Given the description of an element on the screen output the (x, y) to click on. 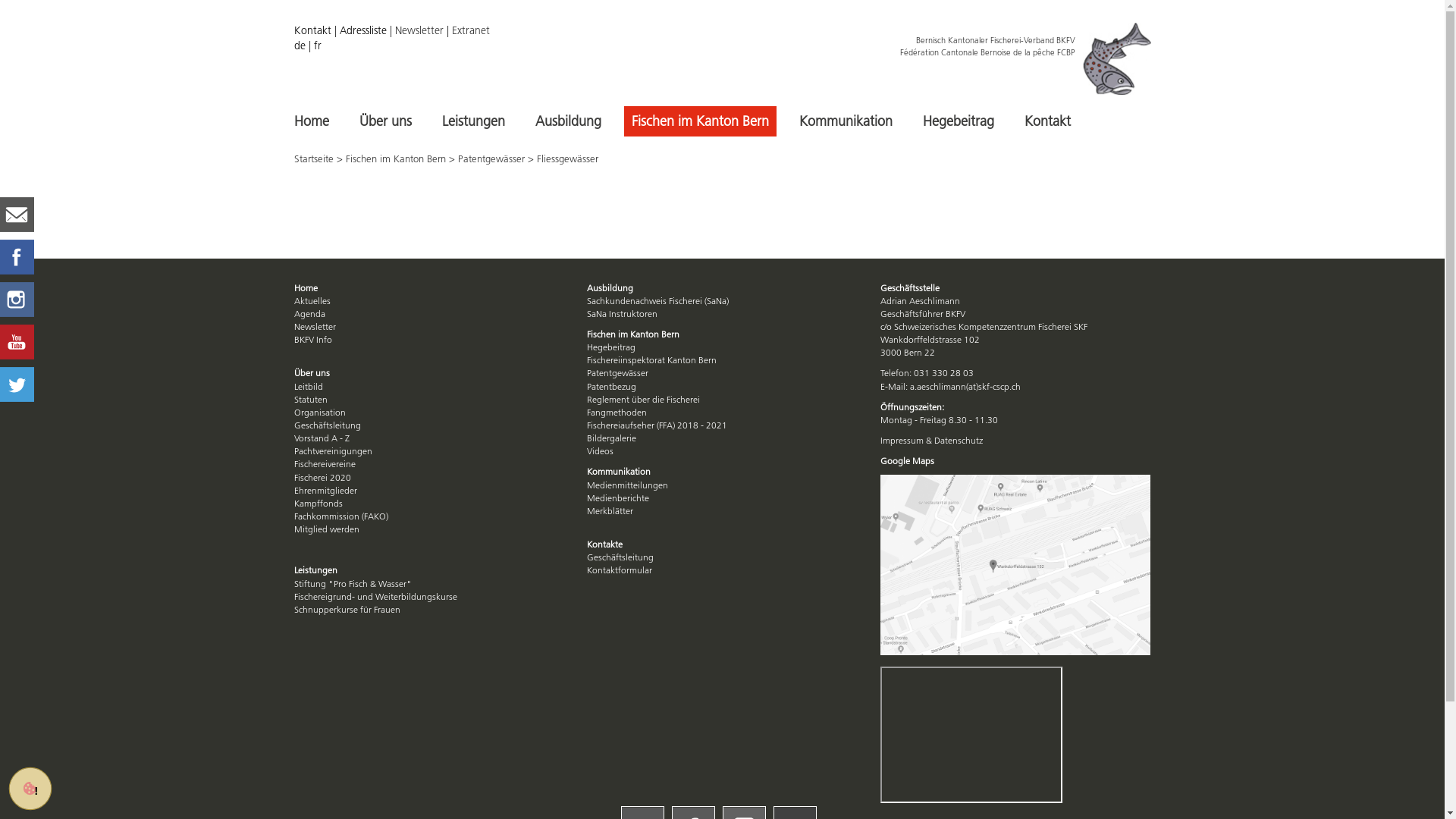
Leistungen Element type: text (472, 121)
Kontakt Element type: text (312, 30)
Adressliste Element type: text (362, 30)
Fischen im Kanton Bern Element type: text (395, 158)
Fischen im Kanton Bern Element type: text (699, 121)
Ausbildung Element type: text (567, 121)
Hegebeitrag Element type: text (957, 121)
fr Element type: text (317, 45)
Kontakt Element type: text (1046, 121)
de Element type: text (299, 45)
Home Element type: text (311, 121)
Kommunikation Element type: text (845, 121)
Startseite Element type: text (313, 158)
a.aeschlimann(at)skf-cscp.ch  Element type: text (964, 386)
Impressum & Datenschutz Element type: text (931, 439)
